Given the description of an element on the screen output the (x, y) to click on. 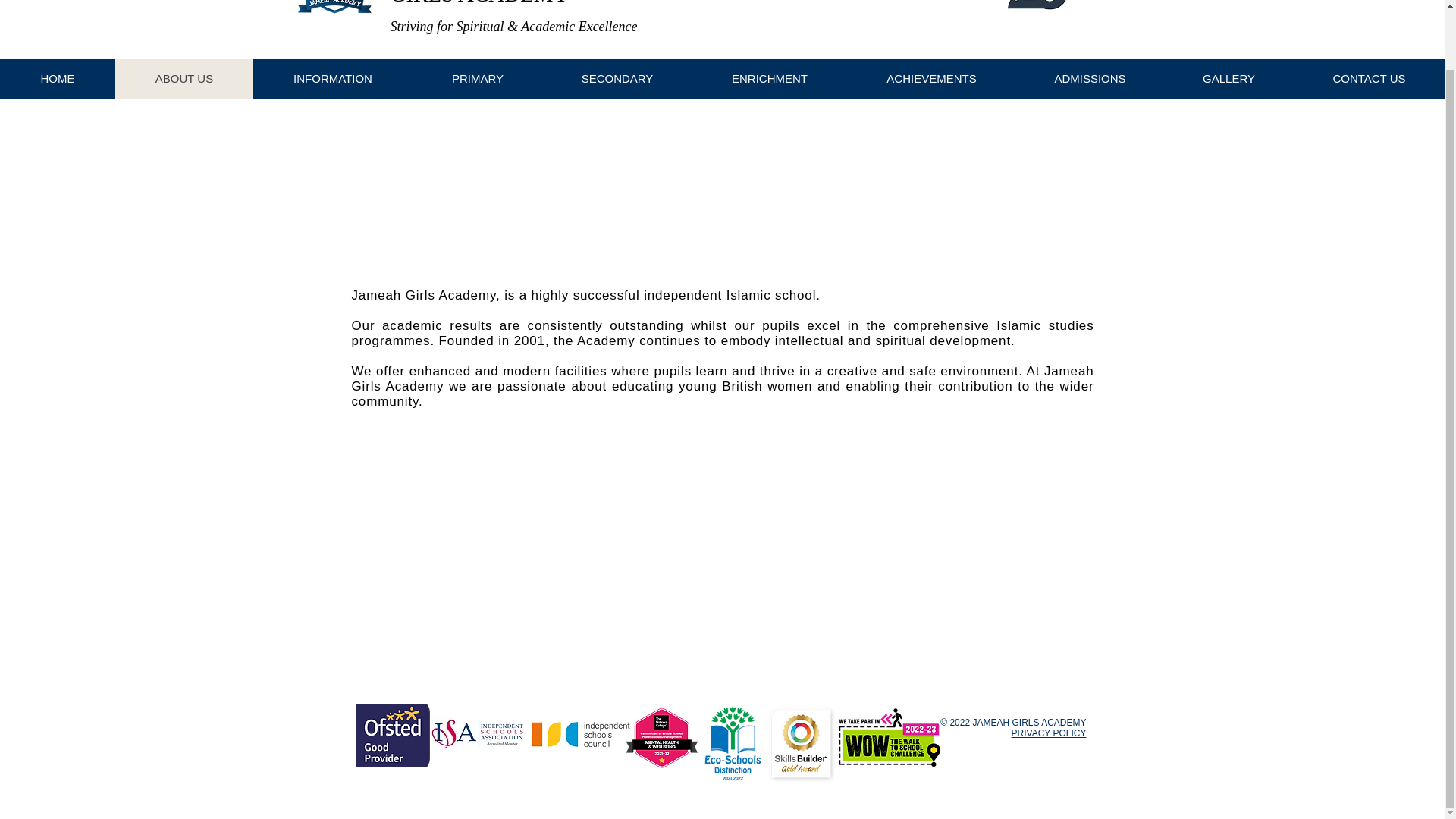
Final-final-final-logo1.png (338, 7)
HOME (57, 78)
PRIMARY (476, 78)
INFORMATION (331, 78)
ENRICHMENT (769, 78)
ABOUT US (183, 78)
Celebrating 23 years.png (1036, 4)
SECONDARY (616, 78)
Twitter Follow (1037, 43)
